Given the description of an element on the screen output the (x, y) to click on. 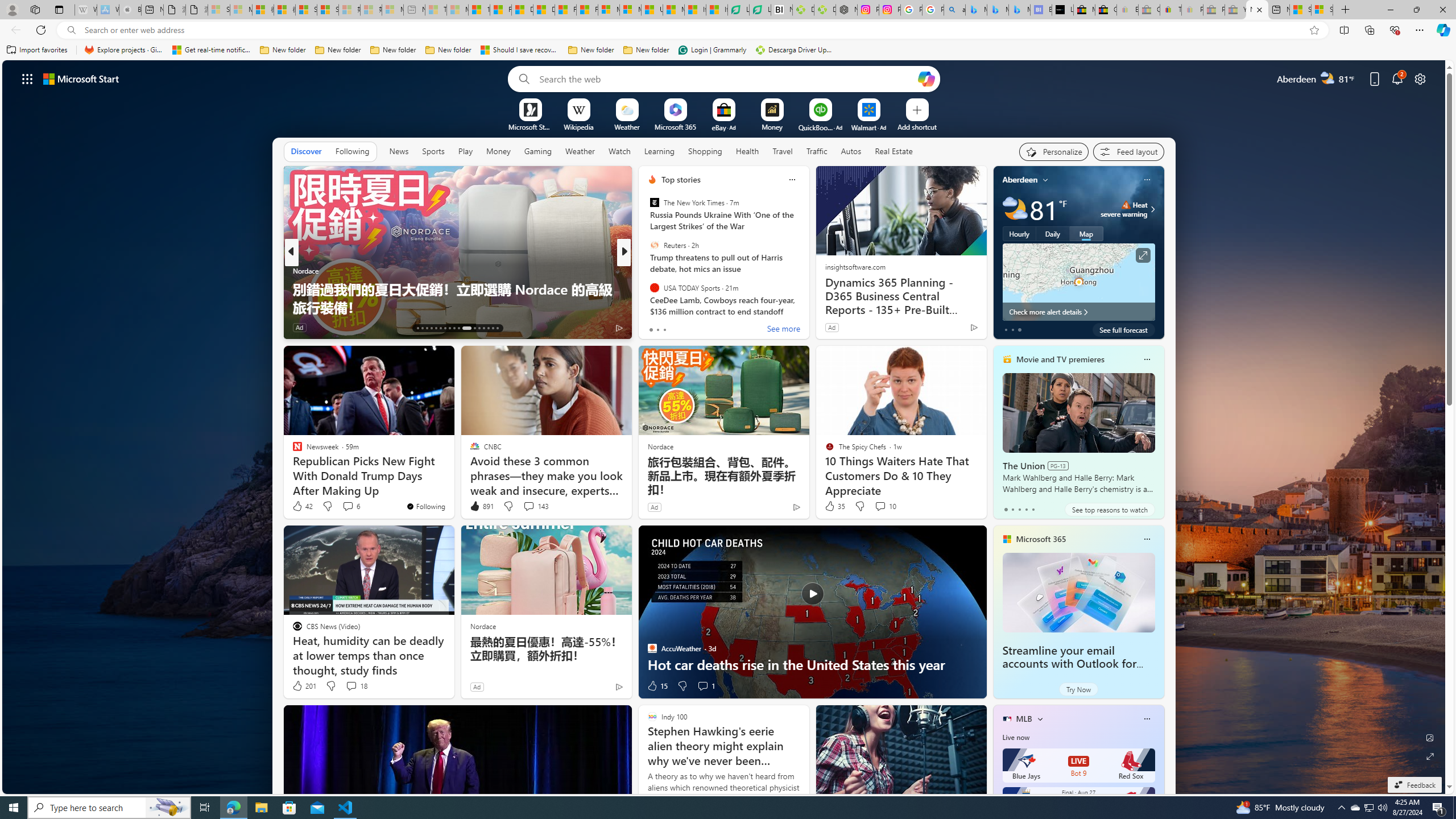
Play (465, 151)
Try Now (1078, 689)
View comments 143 Comment (535, 505)
Payments Terms of Use | eBay.com - Sleeping (1192, 9)
3 Like (651, 327)
201 Like (303, 685)
Play (465, 151)
